Given the description of an element on the screen output the (x, y) to click on. 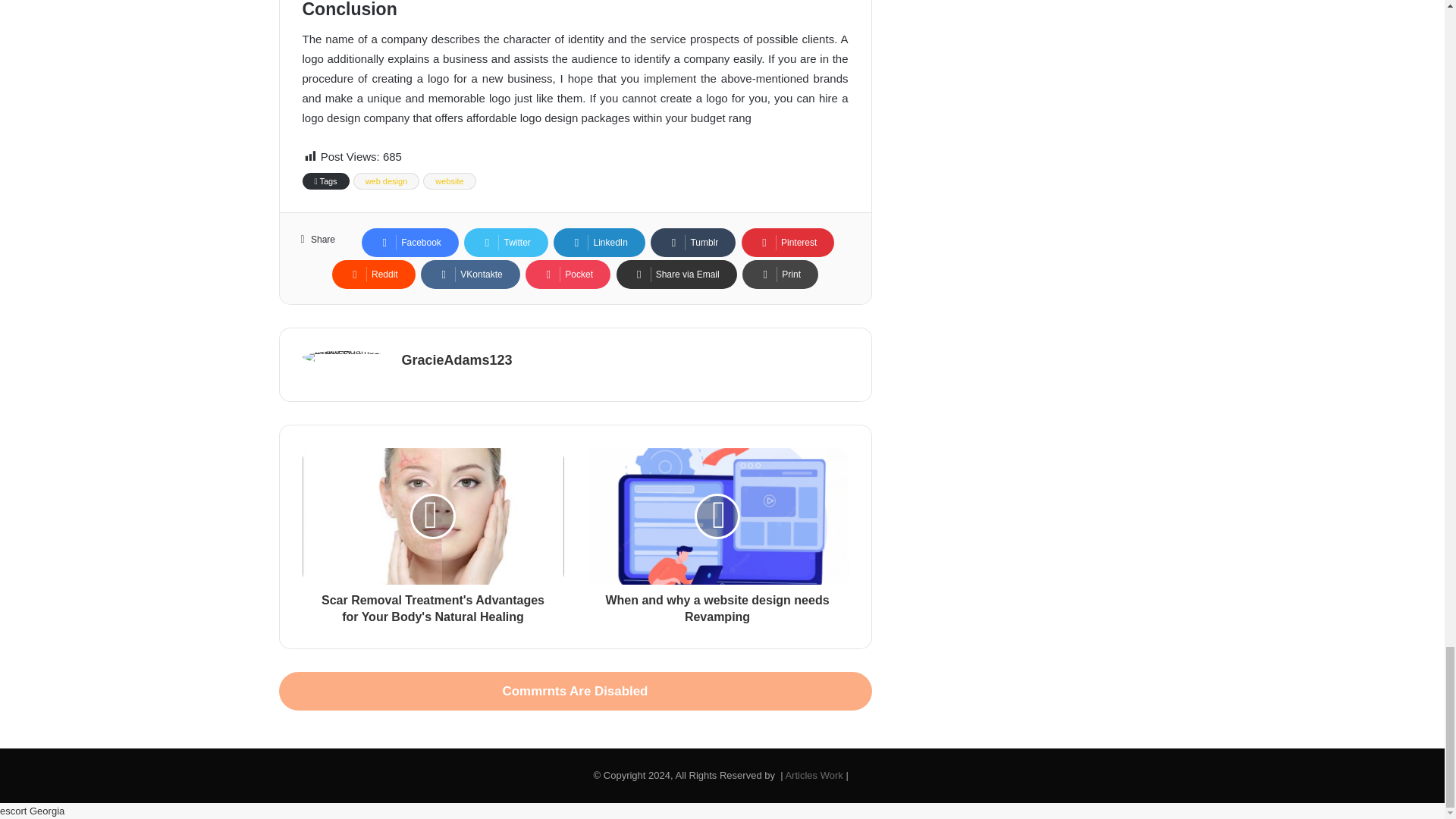
website (449, 180)
web design (386, 180)
Facebook (409, 242)
